Given the description of an element on the screen output the (x, y) to click on. 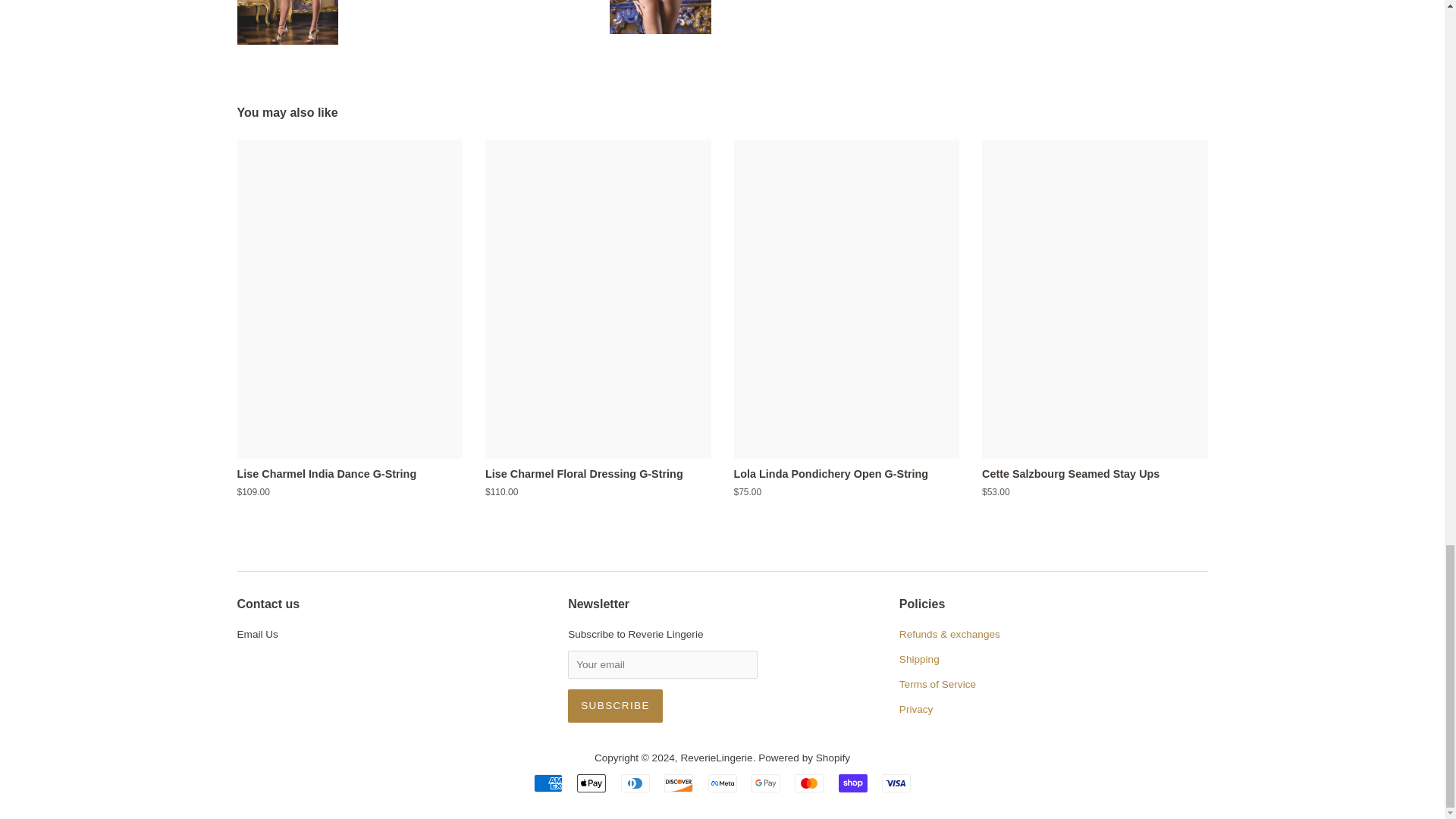
Discover (678, 782)
Privacy Policy (916, 708)
Meta Pay (721, 782)
American Express (548, 782)
Shop Pay (852, 782)
Terms of Service (937, 684)
Mastercard (809, 782)
Google Pay (765, 782)
Refund Policy (949, 633)
Visa (896, 782)
Diners Club (635, 782)
Shipping Policy (919, 659)
Subscribe (614, 705)
Apple Pay (590, 782)
